Given the description of an element on the screen output the (x, y) to click on. 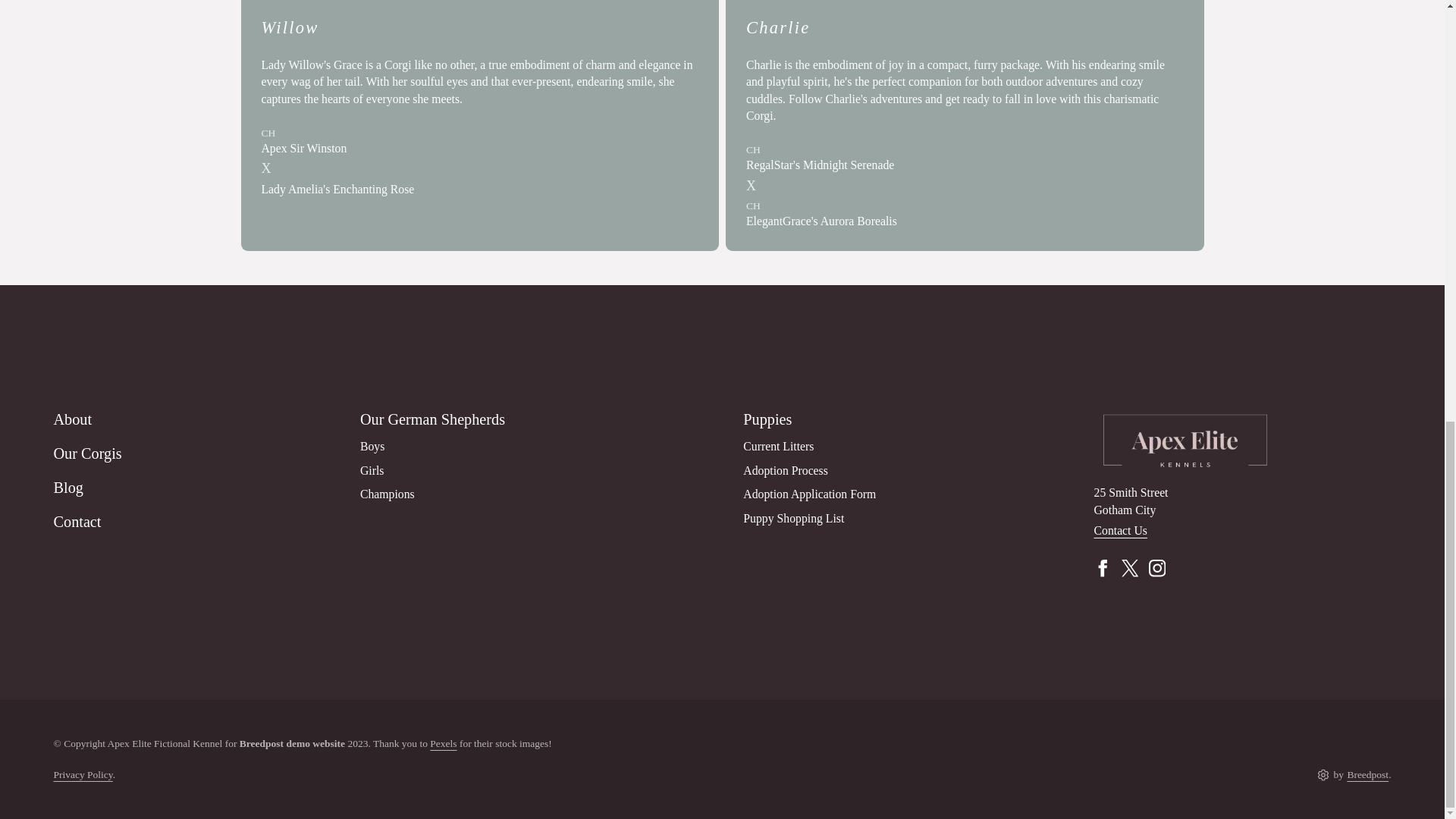
About (195, 422)
Contact Us (1120, 530)
Adoption Application Form (809, 493)
Champions (386, 493)
Privacy Policy (82, 774)
Our Corgis (195, 457)
Adoption Process (785, 469)
Blog (195, 490)
Puppy Shopping List (793, 517)
Boys (371, 445)
Current Litters (777, 445)
Pexels (443, 743)
Apex Sir Winston (303, 147)
Contact (195, 525)
Girls (371, 469)
